Given the description of an element on the screen output the (x, y) to click on. 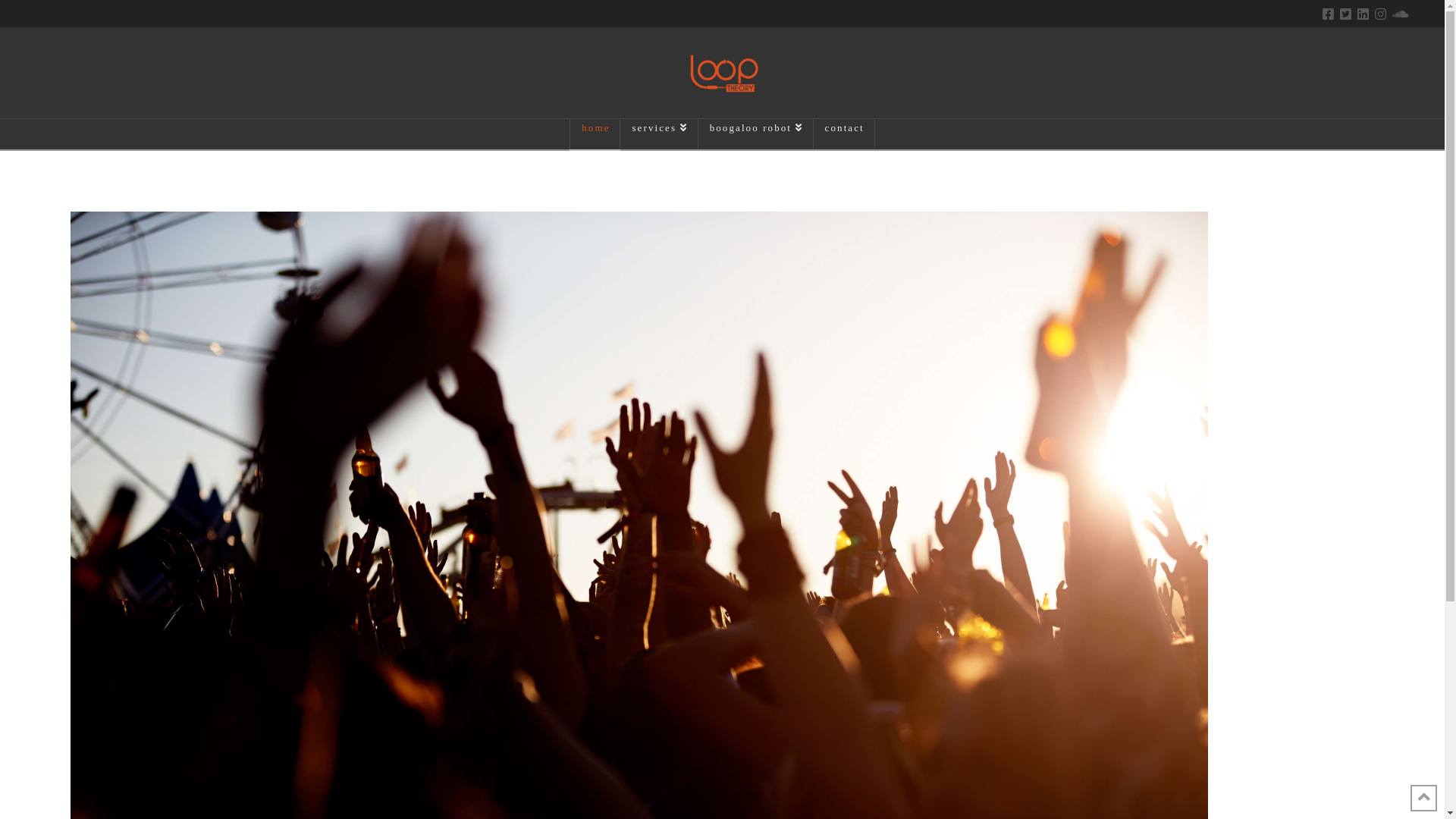
home Element type: text (594, 134)
SoundCloud Element type: hover (1400, 13)
Facebook Element type: hover (1327, 13)
LinkedIn Element type: hover (1362, 13)
contact Element type: text (844, 134)
Instagram Element type: hover (1380, 13)
Back to Top Element type: hover (1423, 797)
boogaloo robot Element type: text (755, 134)
services Element type: text (658, 134)
Twitter Element type: hover (1345, 13)
